Given the description of an element on the screen output the (x, y) to click on. 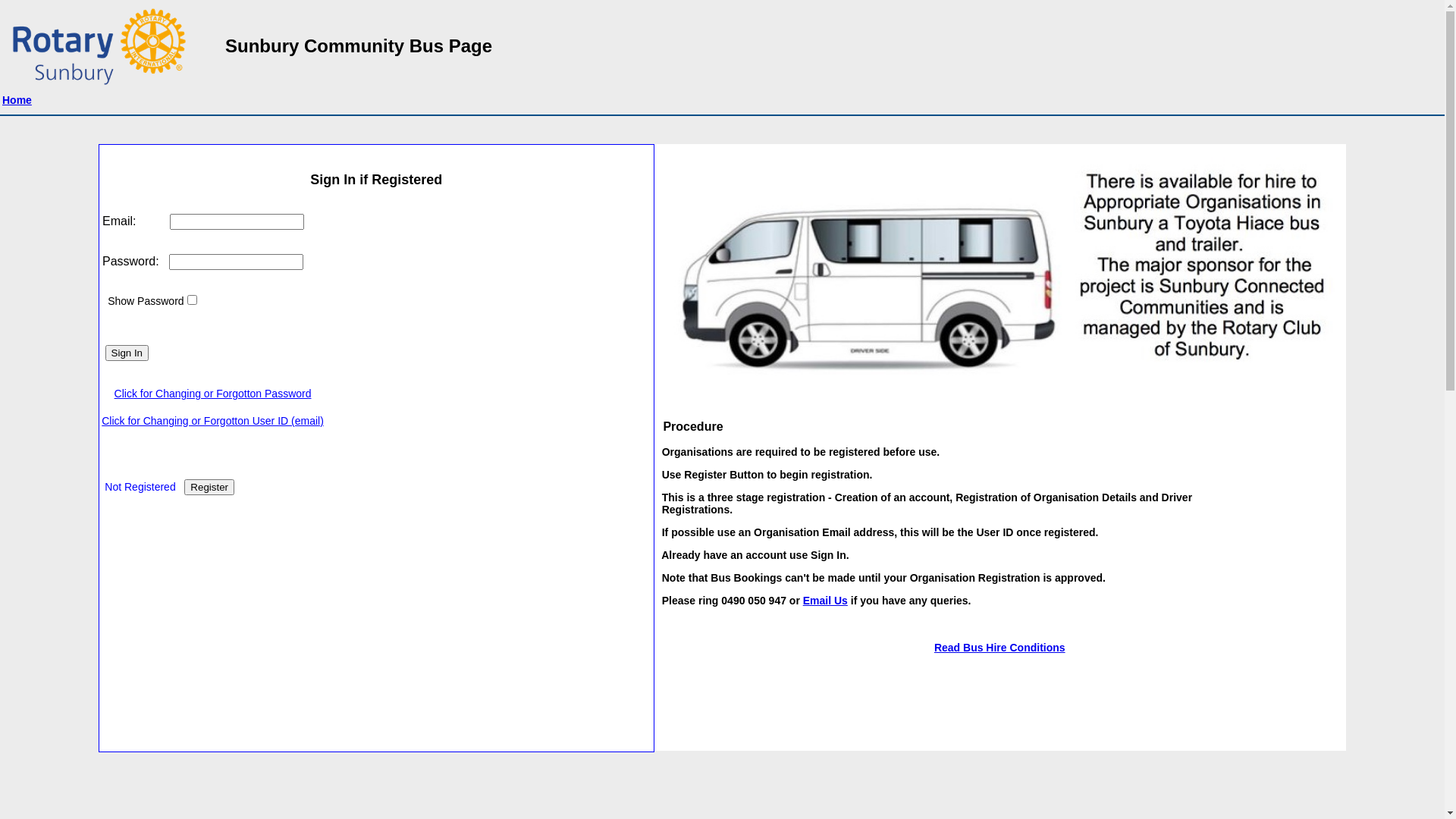
Register Element type: text (209, 487)
on Element type: text (192, 299)
Sign In Element type: text (127, 352)
Click for Changing or Forgotton User ID (email) Element type: text (212, 420)
Home Element type: text (16, 100)
Click for Changing or Forgotton Password Element type: text (212, 393)
Read Bus Hire Conditions Element type: text (999, 647)
Email Us Element type: text (825, 600)
